Given the description of an element on the screen output the (x, y) to click on. 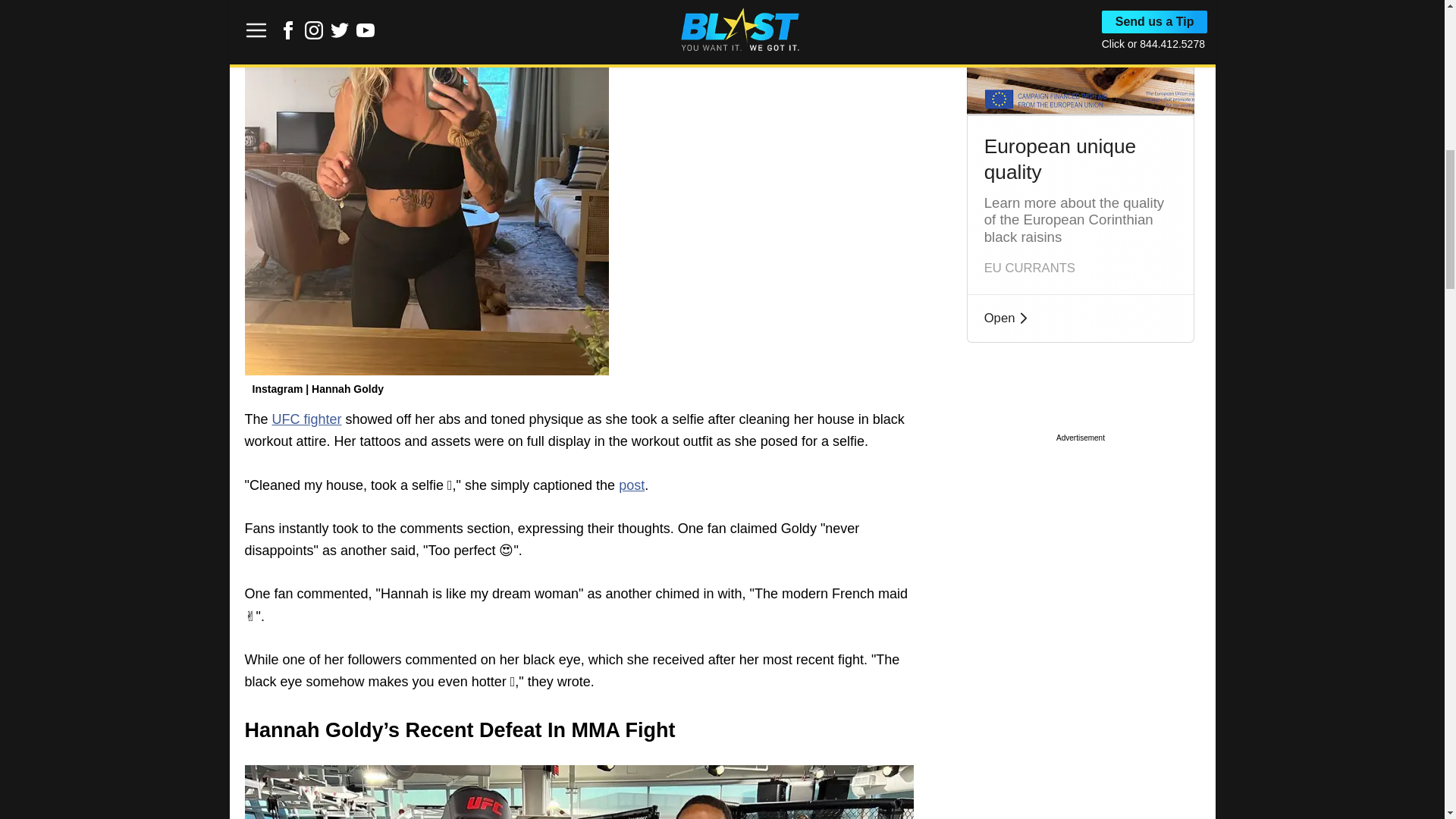
UFC fighter (307, 418)
3rd party ad content (1079, 538)
post (631, 485)
